Given the description of an element on the screen output the (x, y) to click on. 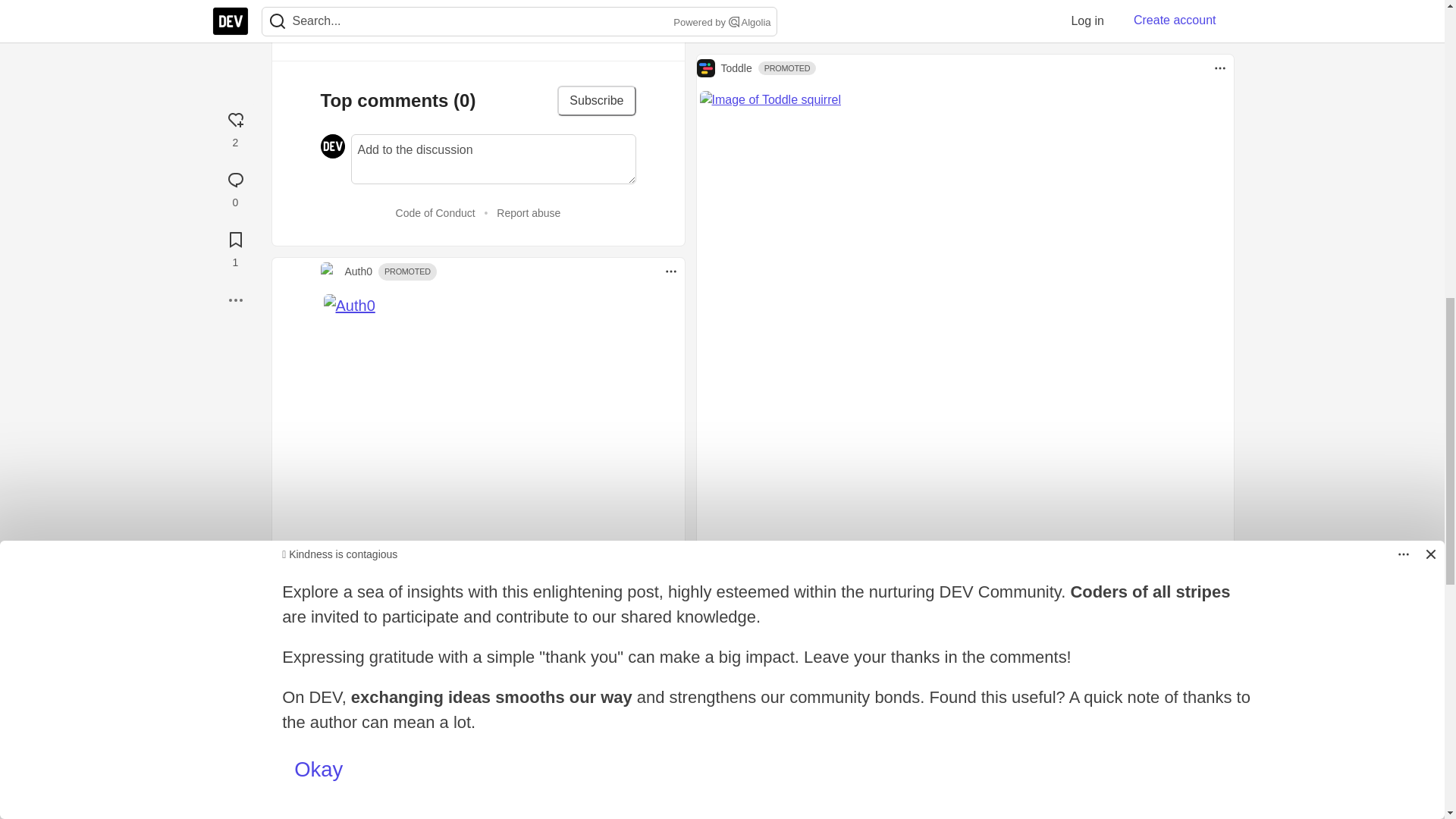
Subscribe (595, 100)
Report abuse (528, 213)
Code of Conduct (436, 213)
Dropdown menu (670, 271)
